Given the description of an element on the screen output the (x, y) to click on. 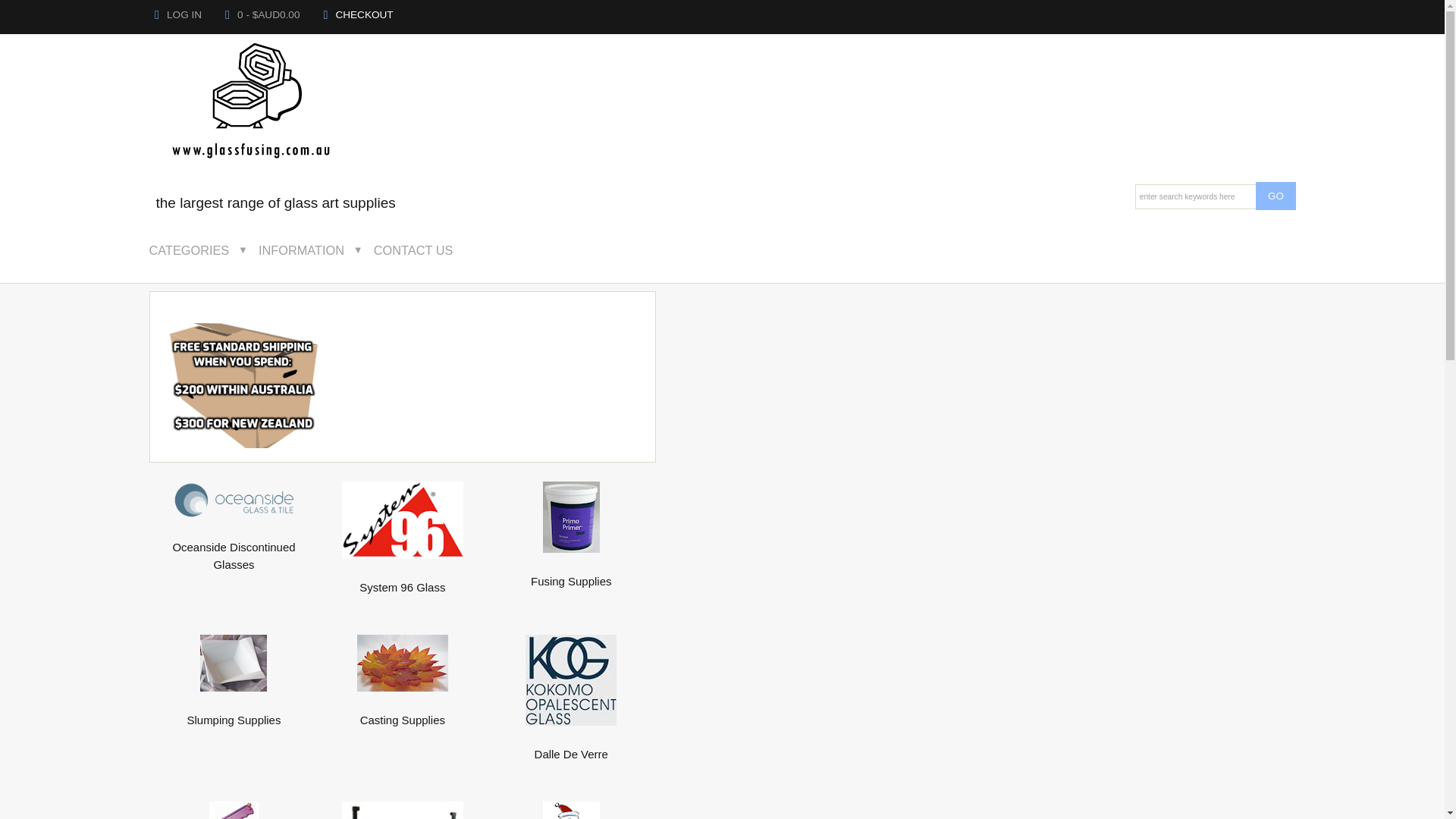
System 96 Glass Element type: text (402, 578)
Dalle De Verre Element type: text (570, 745)
Oceanside Discontinued Glasses Element type: text (233, 547)
Slumping Supplies Element type: text (234, 711)
CHECKOUT Element type: text (358, 14)
LOG IN Element type: text (177, 14)
Login Element type: hover (156, 15)
Shopping Cart Element type: hover (227, 15)
 Glassfusing.com.au  Element type: hover (253, 104)
 Casting Supplies  Element type: hover (402, 662)
CATEGORIES Element type: text (199, 249)
 Oceanside Discontinued Glasses  Element type: hover (233, 499)
 Fusing Supplies  Element type: hover (570, 516)
 Dalle De Verre  Element type: hover (570, 679)
go Element type: text (1275, 195)
 Slumping Supplies  Element type: hover (233, 662)
Casting Supplies Element type: text (402, 711)
Checkout Element type: hover (325, 15)
 System 96 Glass  Element type: hover (402, 519)
 Free shipping limits reduced  Element type: hover (243, 385)
Fusing Supplies Element type: text (570, 572)
INFORMATION Element type: text (312, 249)
CONTACT US Element type: text (424, 249)
0 - $AUD0.00 Element type: text (262, 14)
